Given the description of an element on the screen output the (x, y) to click on. 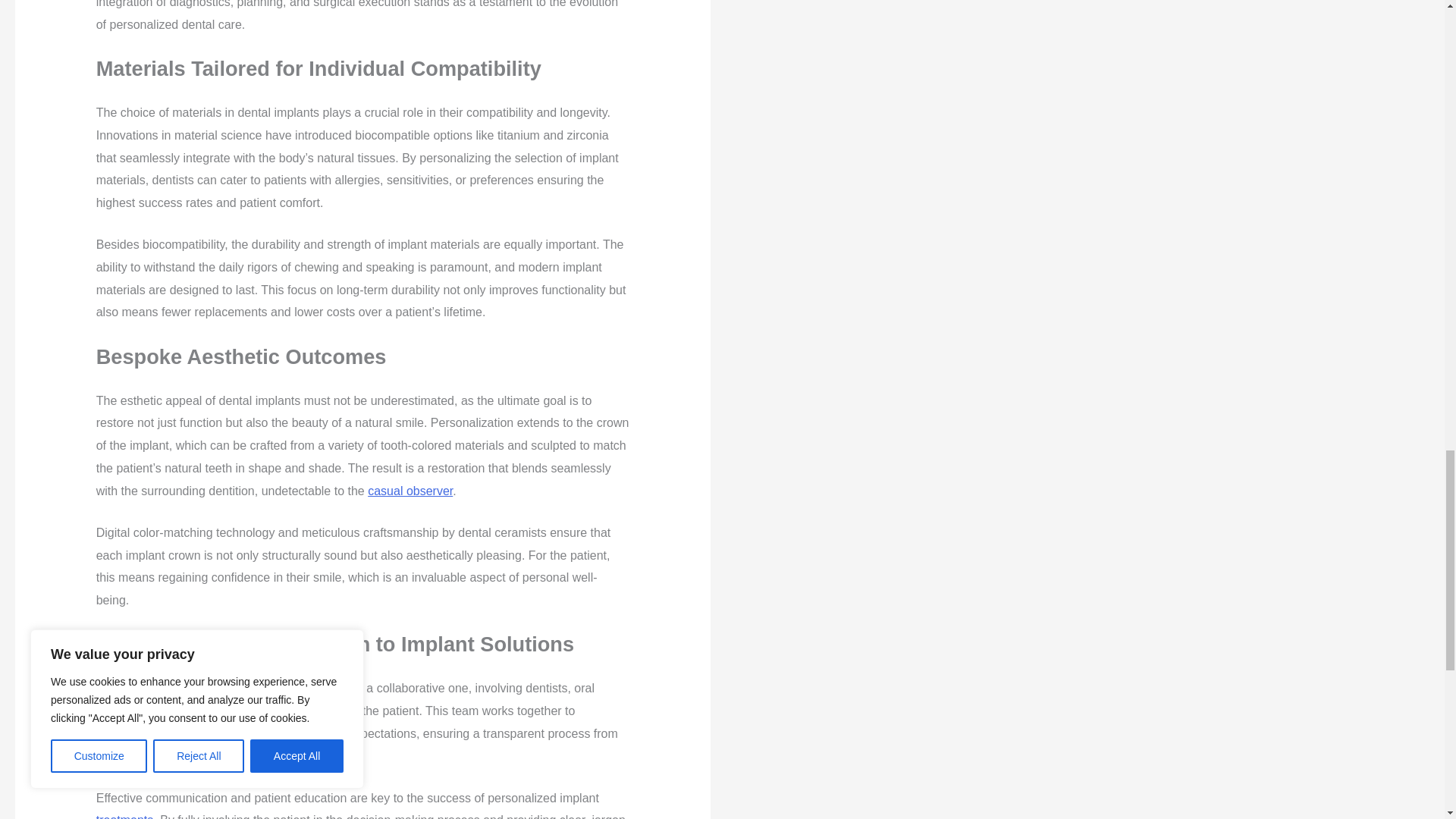
treatments (125, 816)
casual observer (410, 490)
